Given the description of an element on the screen output the (x, y) to click on. 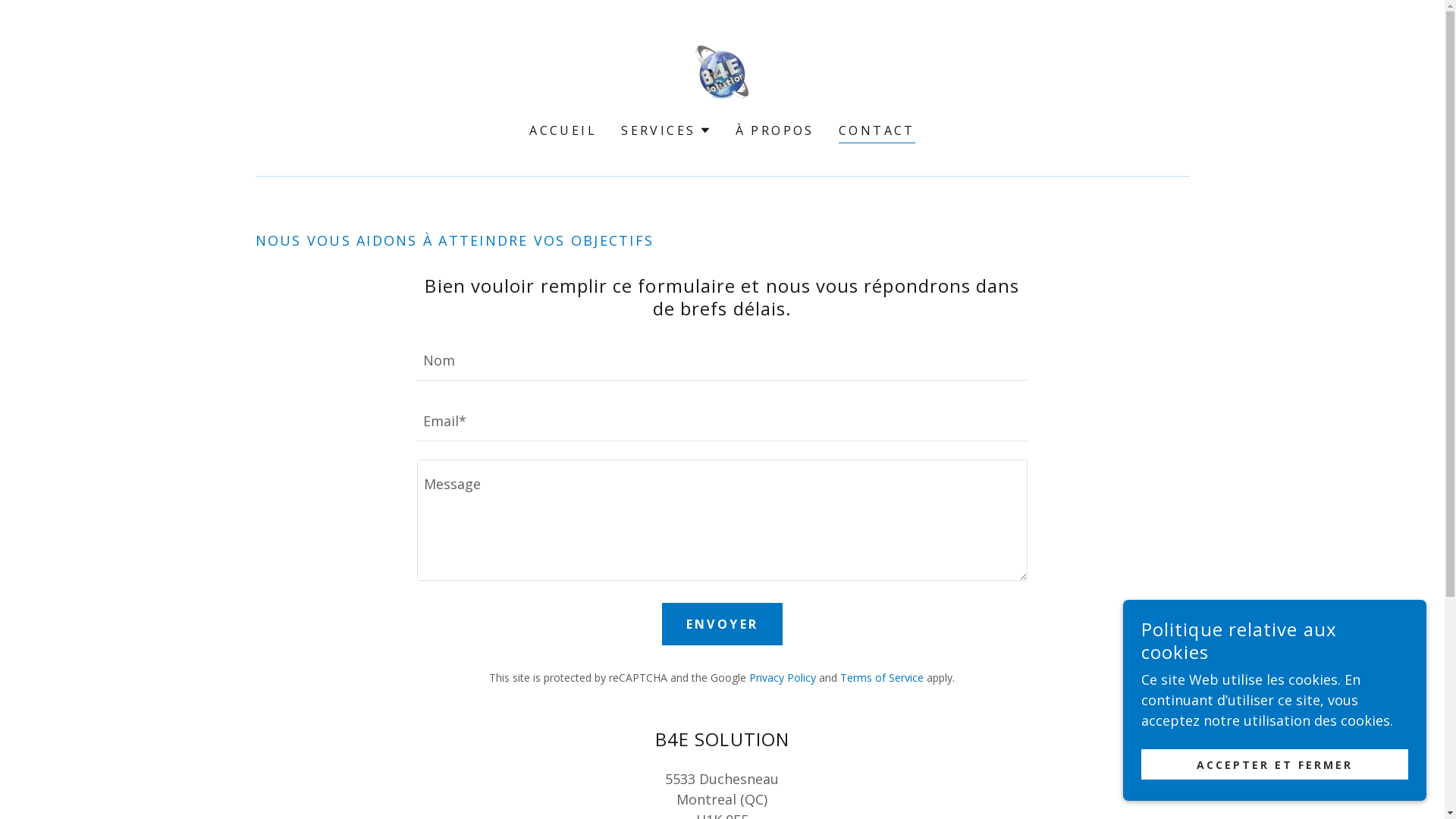
SERVICES Element type: text (665, 130)
ACCEPTER ET FERMER Element type: text (1274, 764)
Privacy Policy Element type: text (782, 677)
B4E SOLUTION Element type: hover (721, 71)
CONTACT Element type: text (876, 132)
ACCUEIL Element type: text (562, 130)
ENVOYER Element type: text (721, 623)
Terms of Service Element type: text (881, 677)
